Given the description of an element on the screen output the (x, y) to click on. 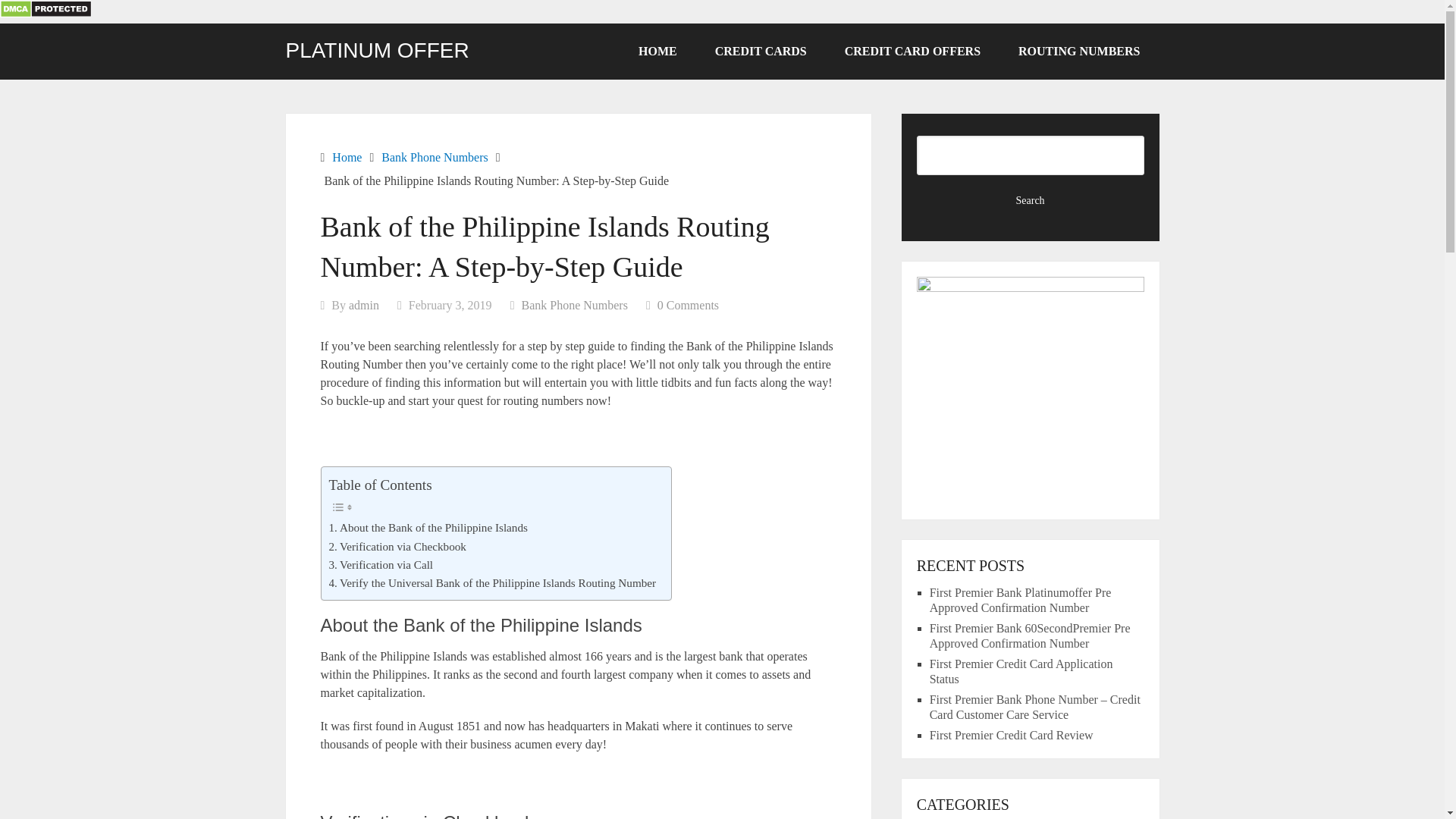
Verification via Checkbook (397, 546)
Home (346, 156)
First Premier Credit Card Application Status (1021, 671)
PLATINUM OFFER (376, 50)
Search (1030, 200)
About the Bank of the Philippine Islands  (428, 527)
Bank Phone Numbers (434, 156)
Verification via Call (381, 565)
Bank Phone Numbers (574, 305)
Posts by admin (363, 305)
Search (1030, 200)
First Premier Credit Card Review (1011, 735)
